Given the description of an element on the screen output the (x, y) to click on. 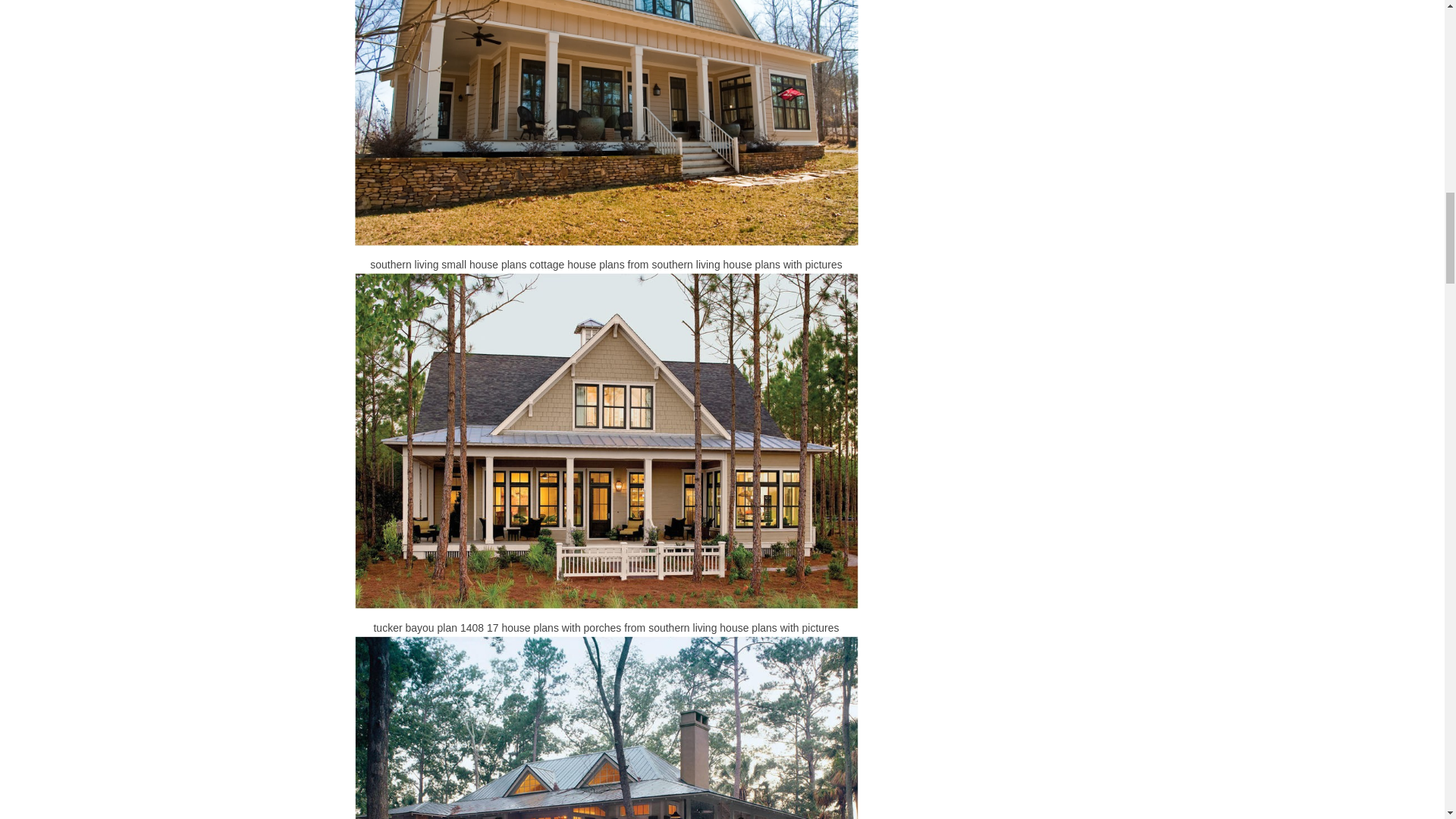
southern living small house plans cottage house plans (607, 123)
top 12 best selling house plans southern living (607, 727)
